Given the description of an element on the screen output the (x, y) to click on. 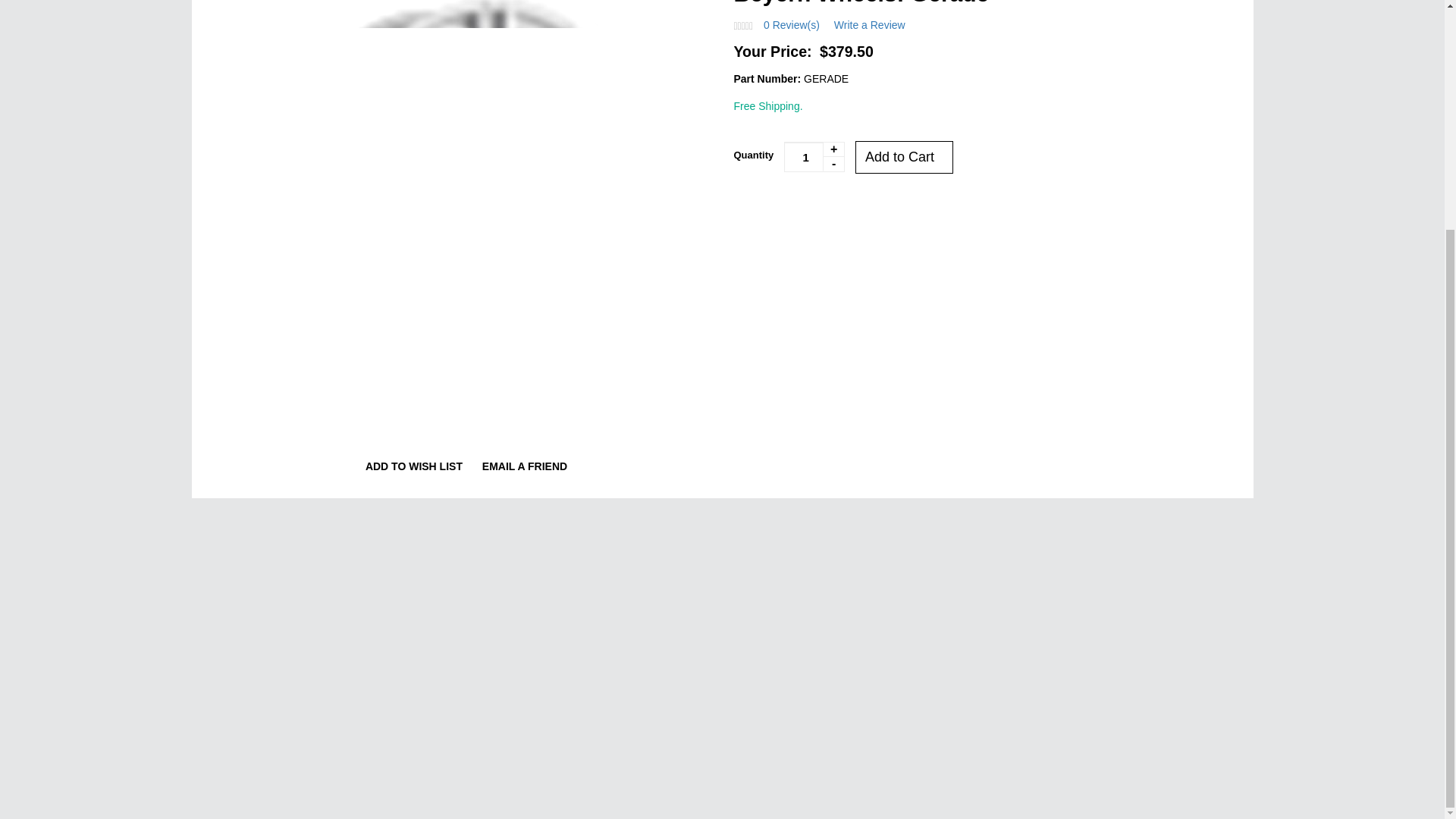
1 (814, 156)
